Given the description of an element on the screen output the (x, y) to click on. 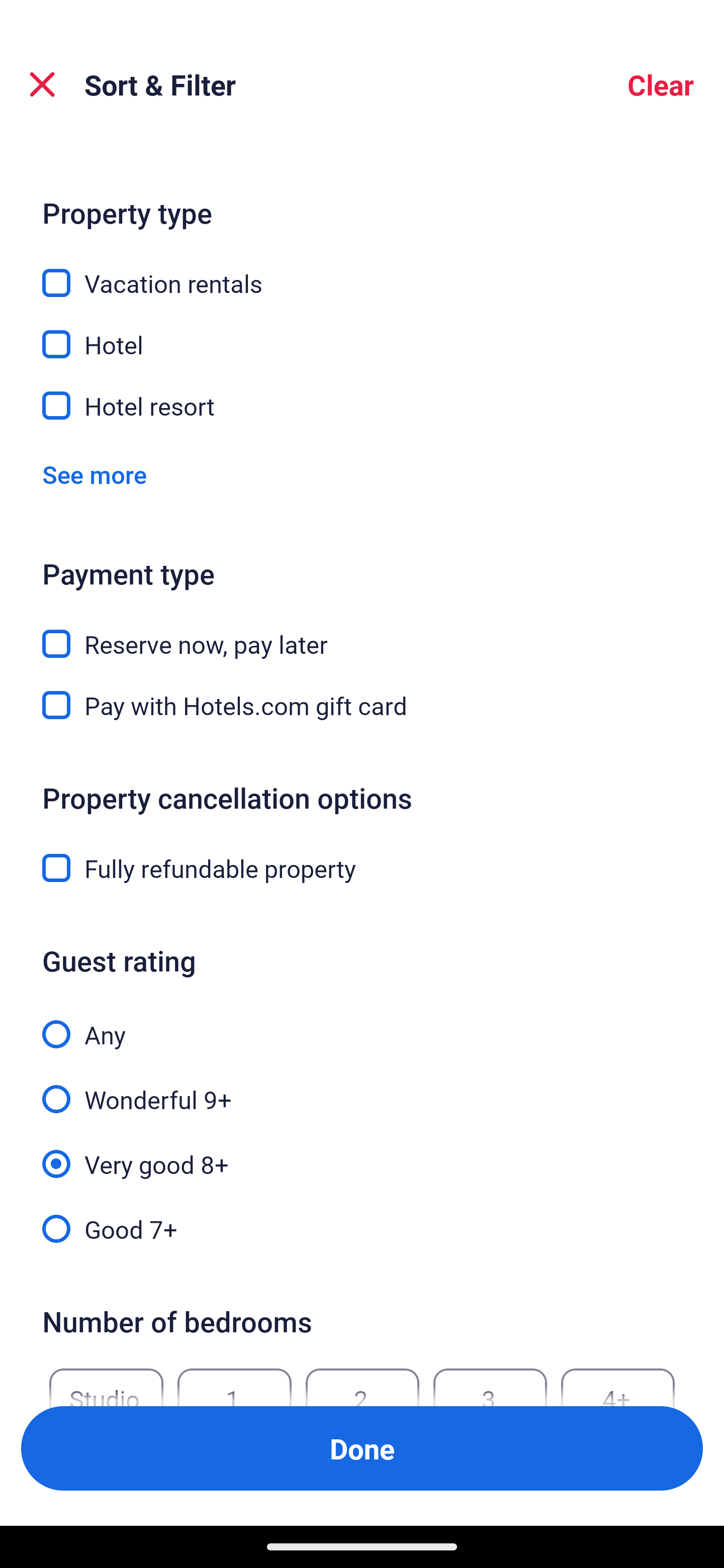
Close Sort and Filter (42, 84)
Clear (660, 84)
Vacation rentals, Vacation rentals (361, 271)
Hotel, Hotel (361, 332)
Hotel resort, Hotel resort (361, 405)
See more See more property types Link (93, 473)
Reserve now, pay later, Reserve now, pay later (361, 632)
Any (361, 1022)
Wonderful 9+ (361, 1088)
Good 7+ (361, 1227)
Apply and close Sort and Filter Done (361, 1448)
